Given the description of an element on the screen output the (x, y) to click on. 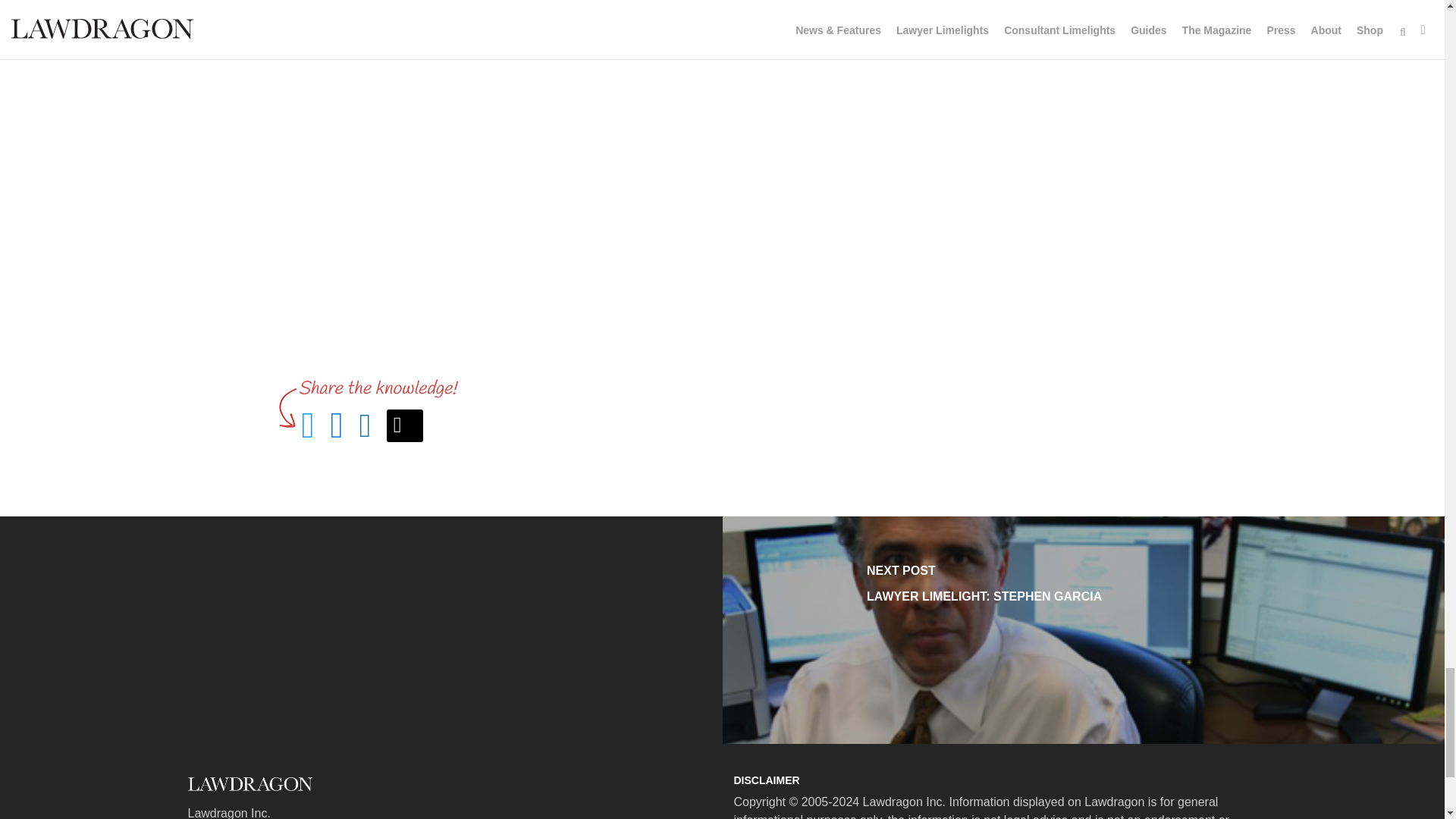
Email (405, 425)
